Given the description of an element on the screen output the (x, y) to click on. 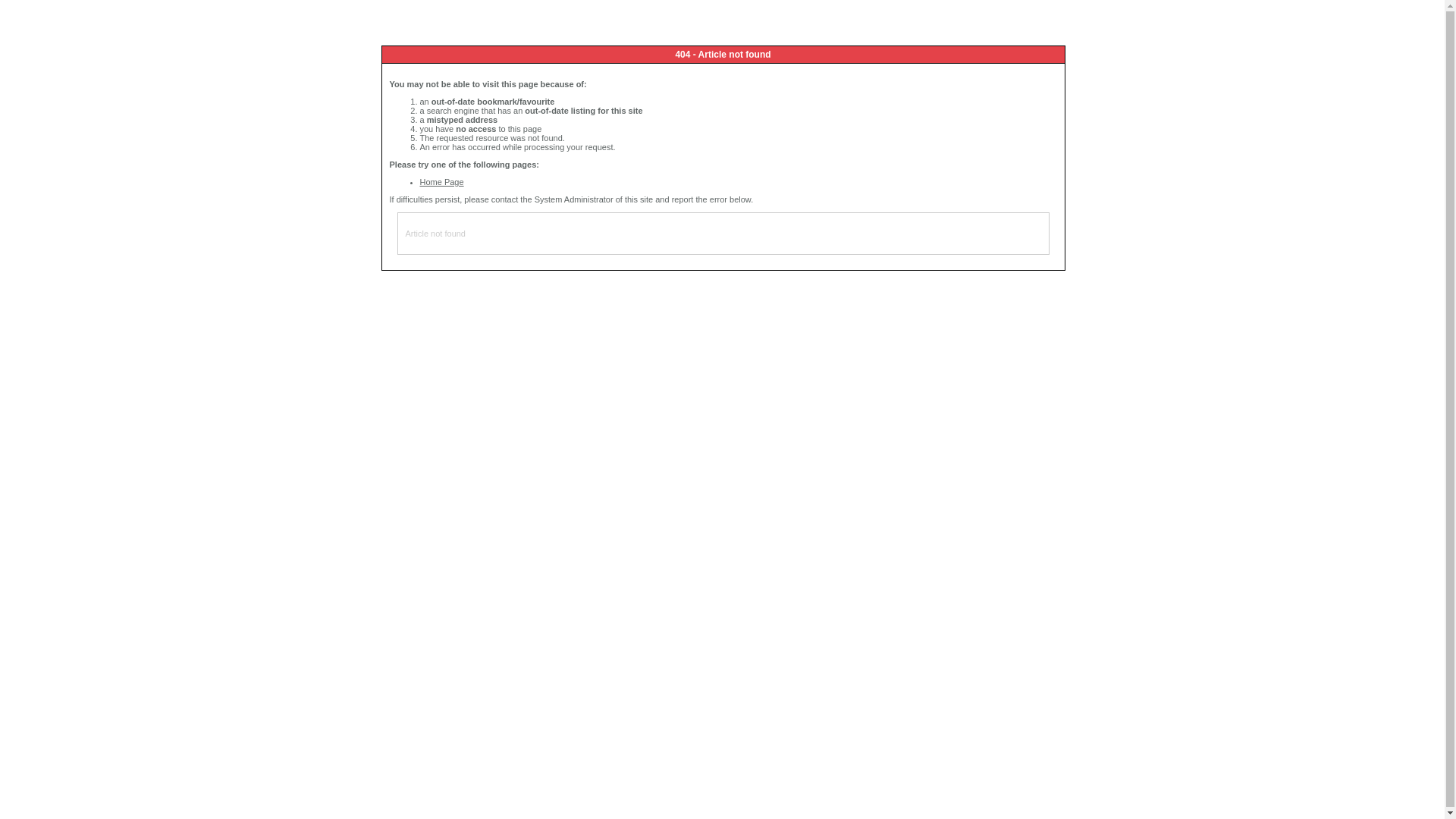
Home Page Element type: text (442, 181)
